Given the description of an element on the screen output the (x, y) to click on. 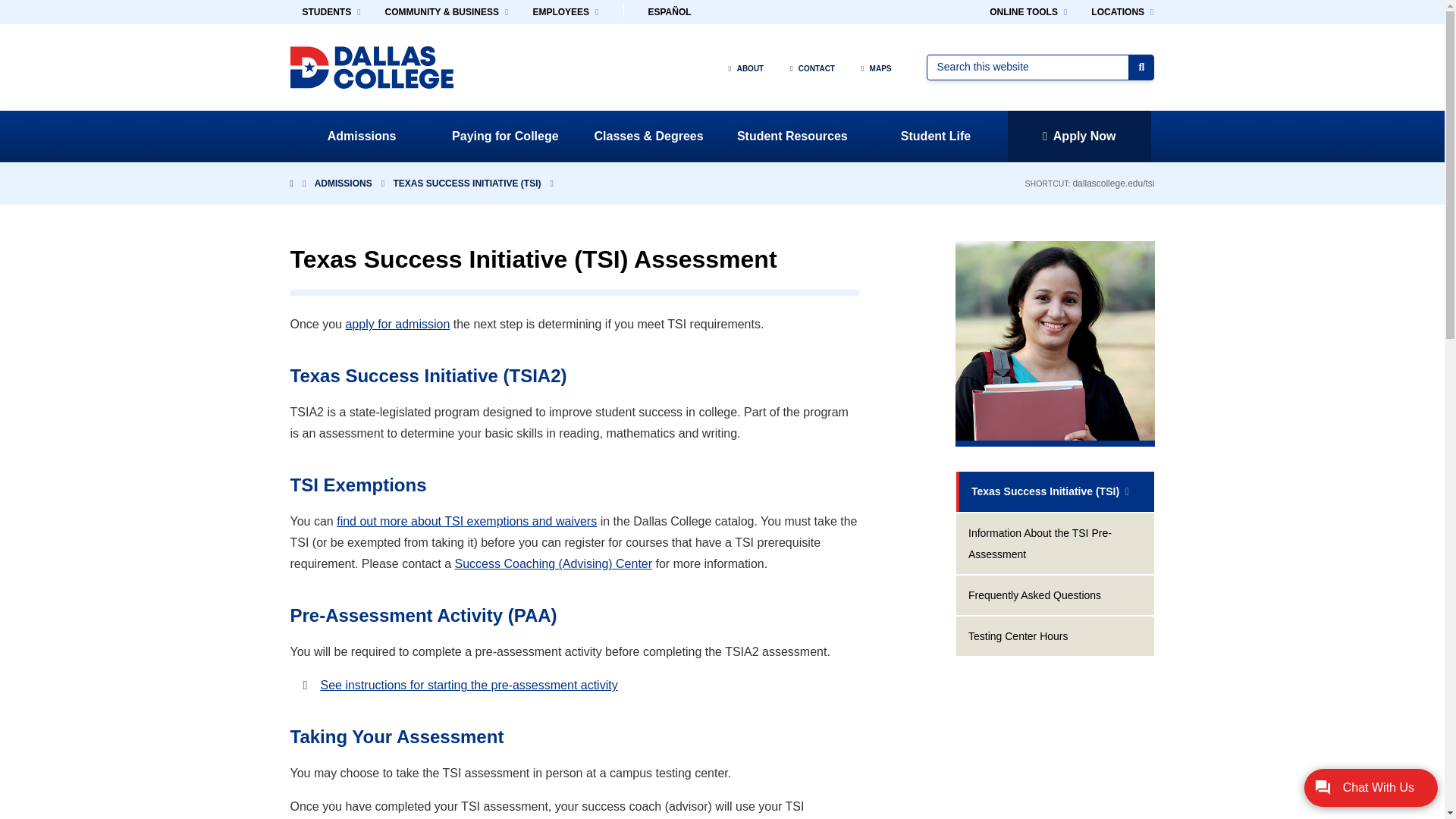
STUDENTS (330, 12)
ONLINE TOOLS (1027, 12)
EMPLOYEES (564, 12)
LOCATIONS (1122, 12)
